Given the description of an element on the screen output the (x, y) to click on. 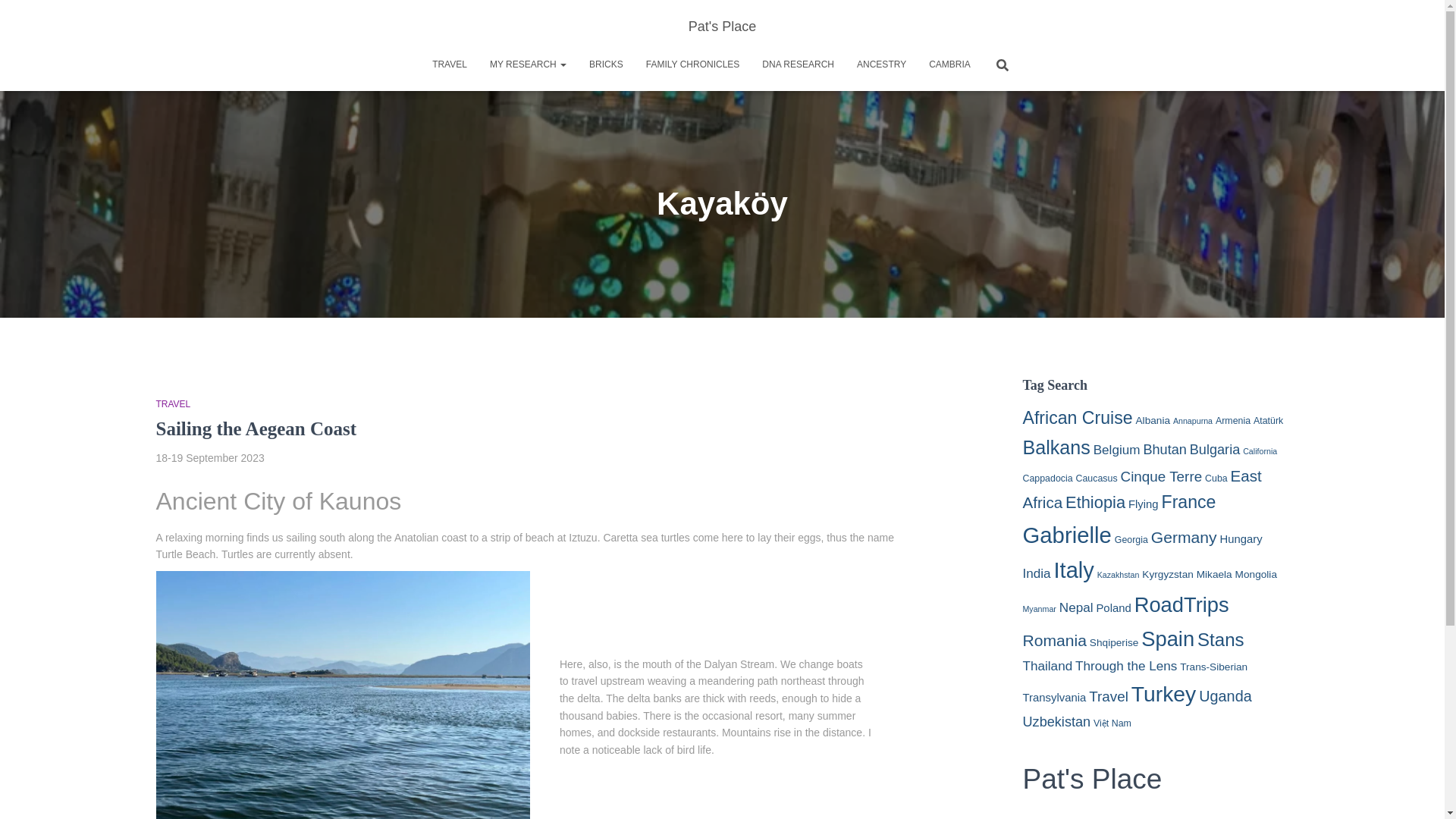
DNA RESEARCH (798, 64)
My Research (528, 64)
Albania (1152, 419)
FAMILY CHRONICLES (692, 64)
ANCESTRY (881, 64)
Sailing the Aegean Coast (255, 428)
BRICKS (606, 64)
Annapurna (1192, 420)
TRAVEL (172, 403)
Travel (449, 64)
MY RESEARCH (528, 64)
Pat's Place (722, 26)
Armenia (1232, 420)
TRAVEL (449, 64)
Pat's Place (722, 26)
